Given the description of an element on the screen output the (x, y) to click on. 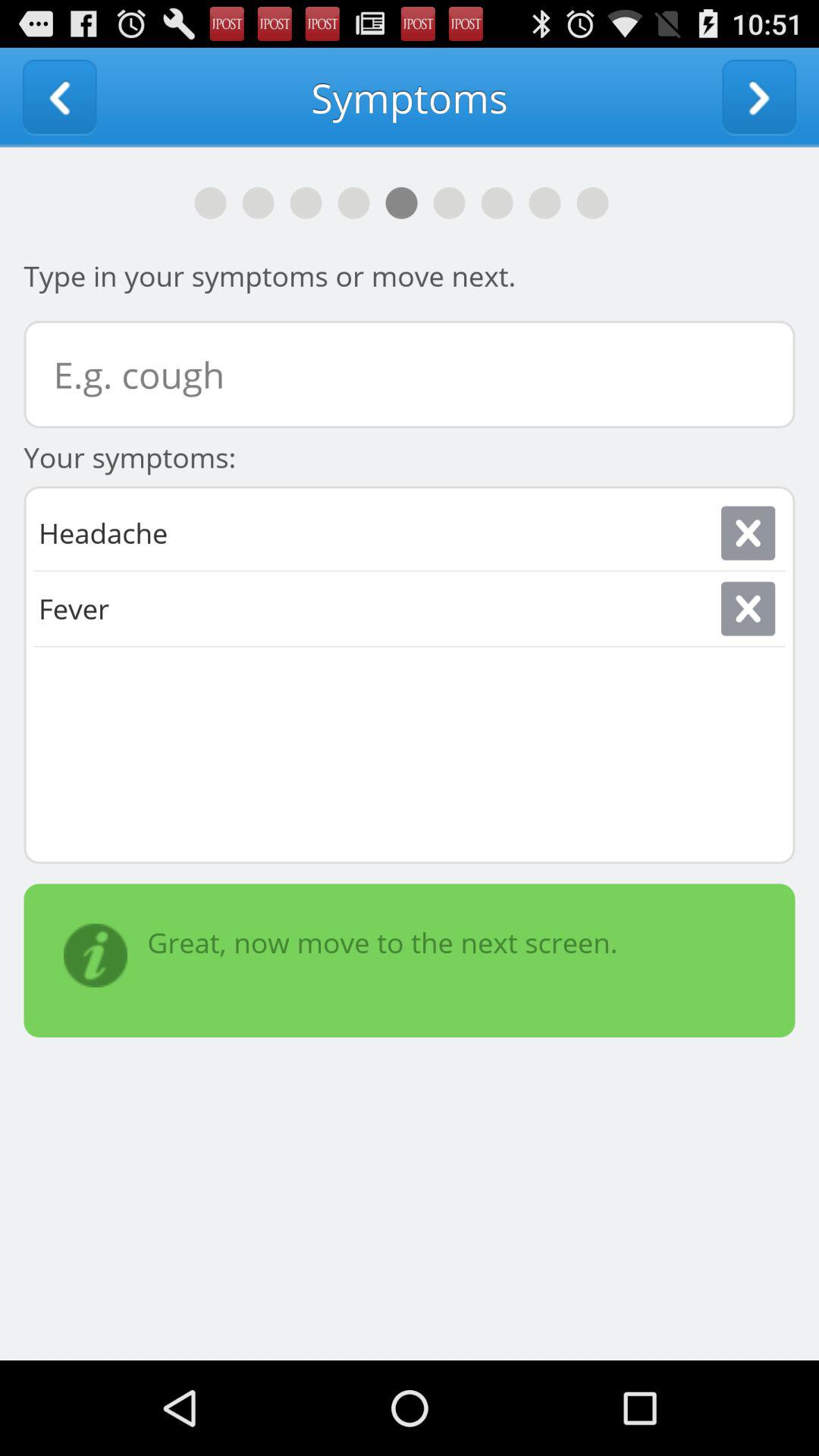
go to close (748, 533)
